Given the description of an element on the screen output the (x, y) to click on. 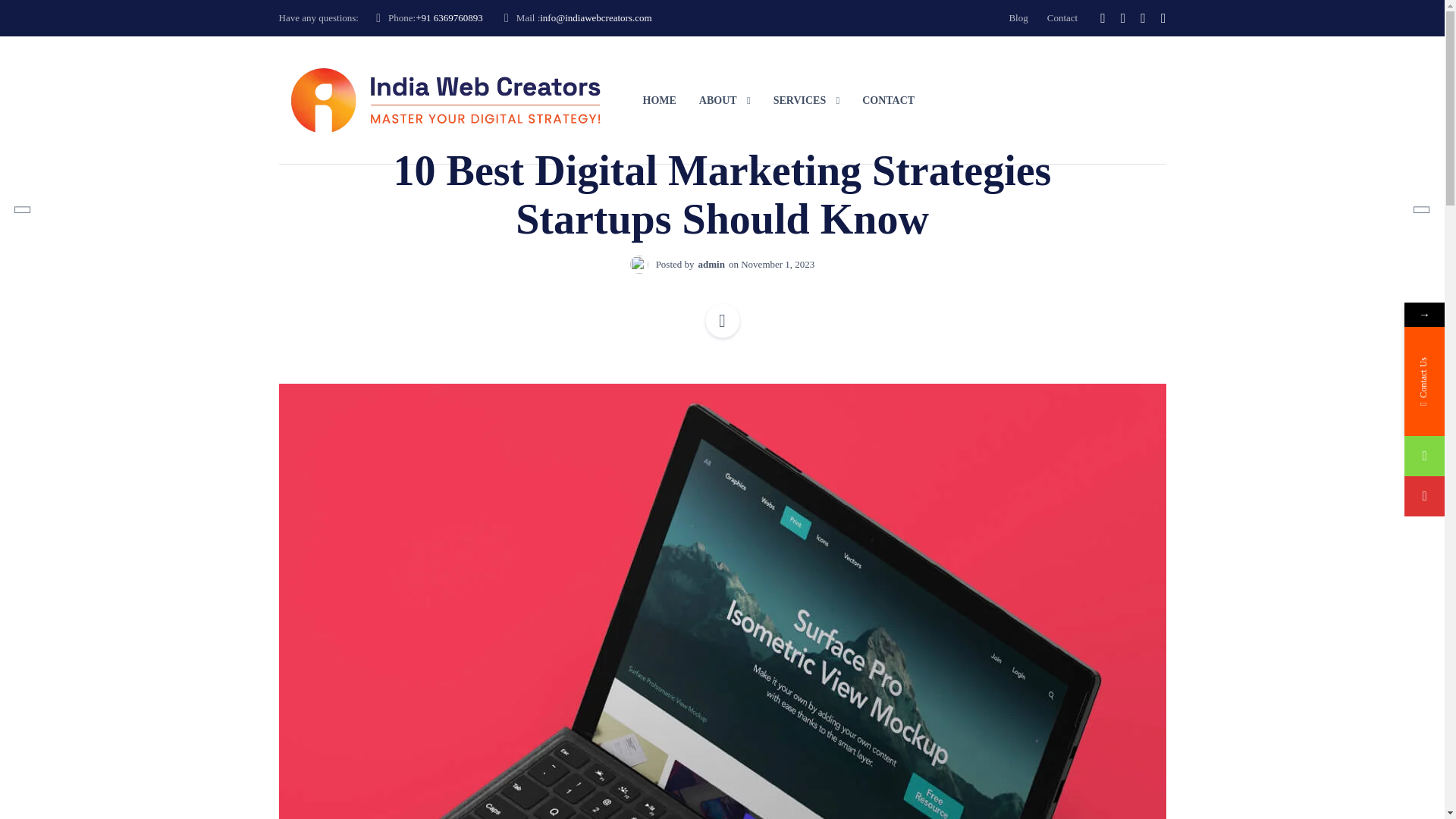
Previous Post (50, 182)
SERVICES (806, 100)
Posts by admin (711, 264)
admin (711, 264)
